Given the description of an element on the screen output the (x, y) to click on. 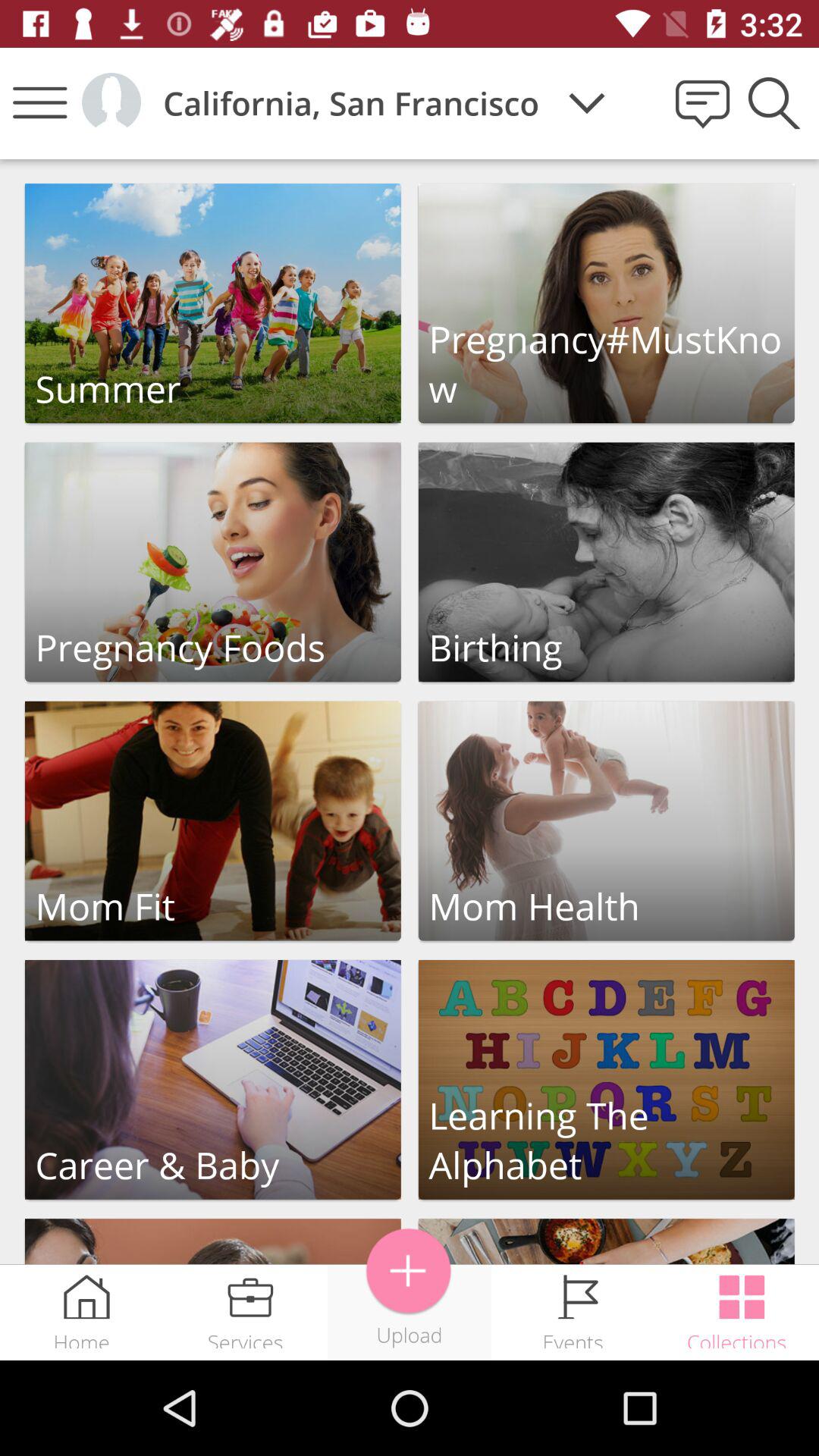
tap to launch app (606, 561)
